Given the description of an element on the screen output the (x, y) to click on. 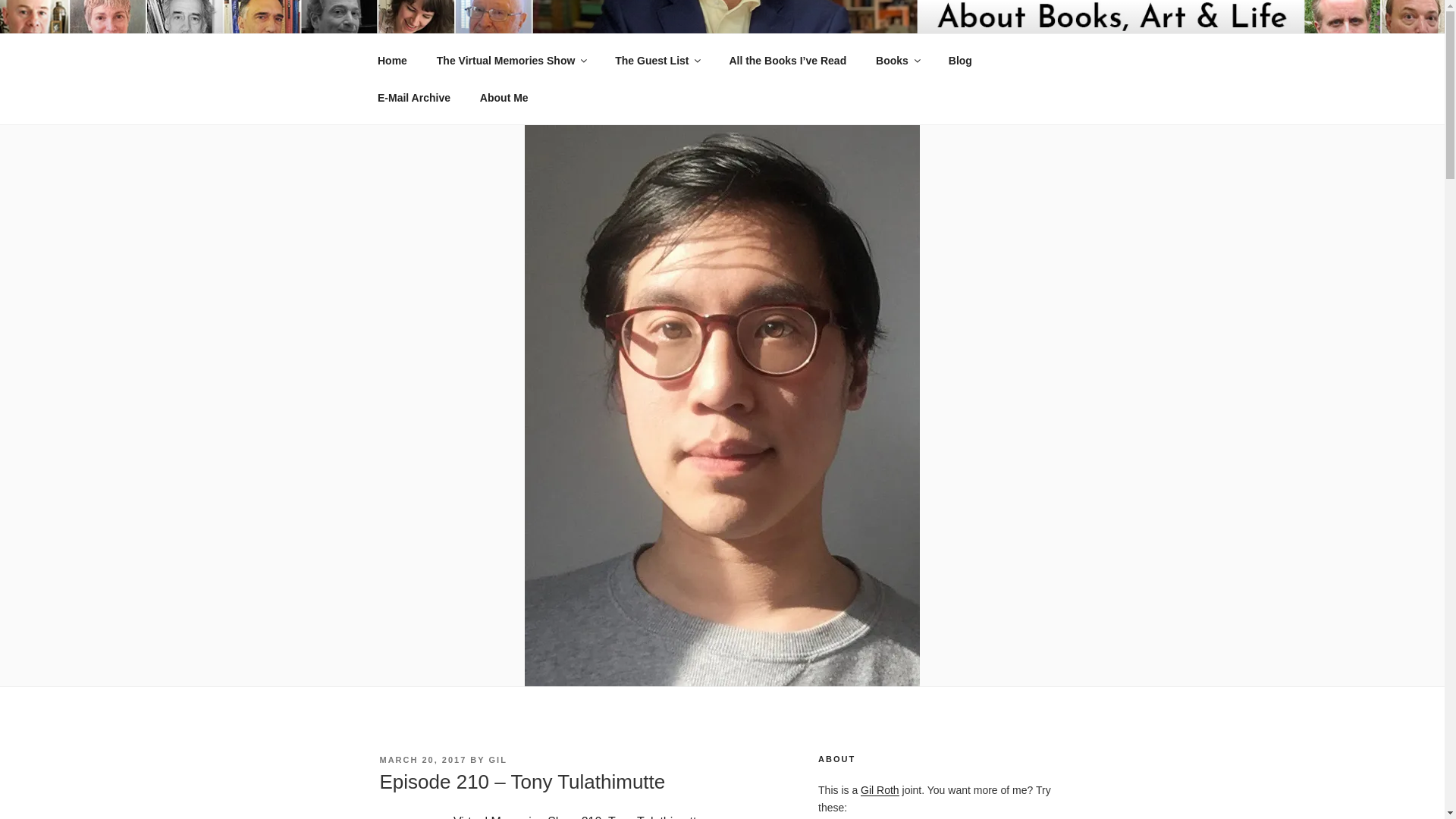
The Guest List (657, 60)
Books (898, 60)
Home (392, 60)
E-Mail Archive (413, 97)
Blog (959, 60)
The Virtual Memories Show (510, 60)
THE VIRTUAL MEMORIES SHOW (619, 52)
About Me (503, 97)
